Given the description of an element on the screen output the (x, y) to click on. 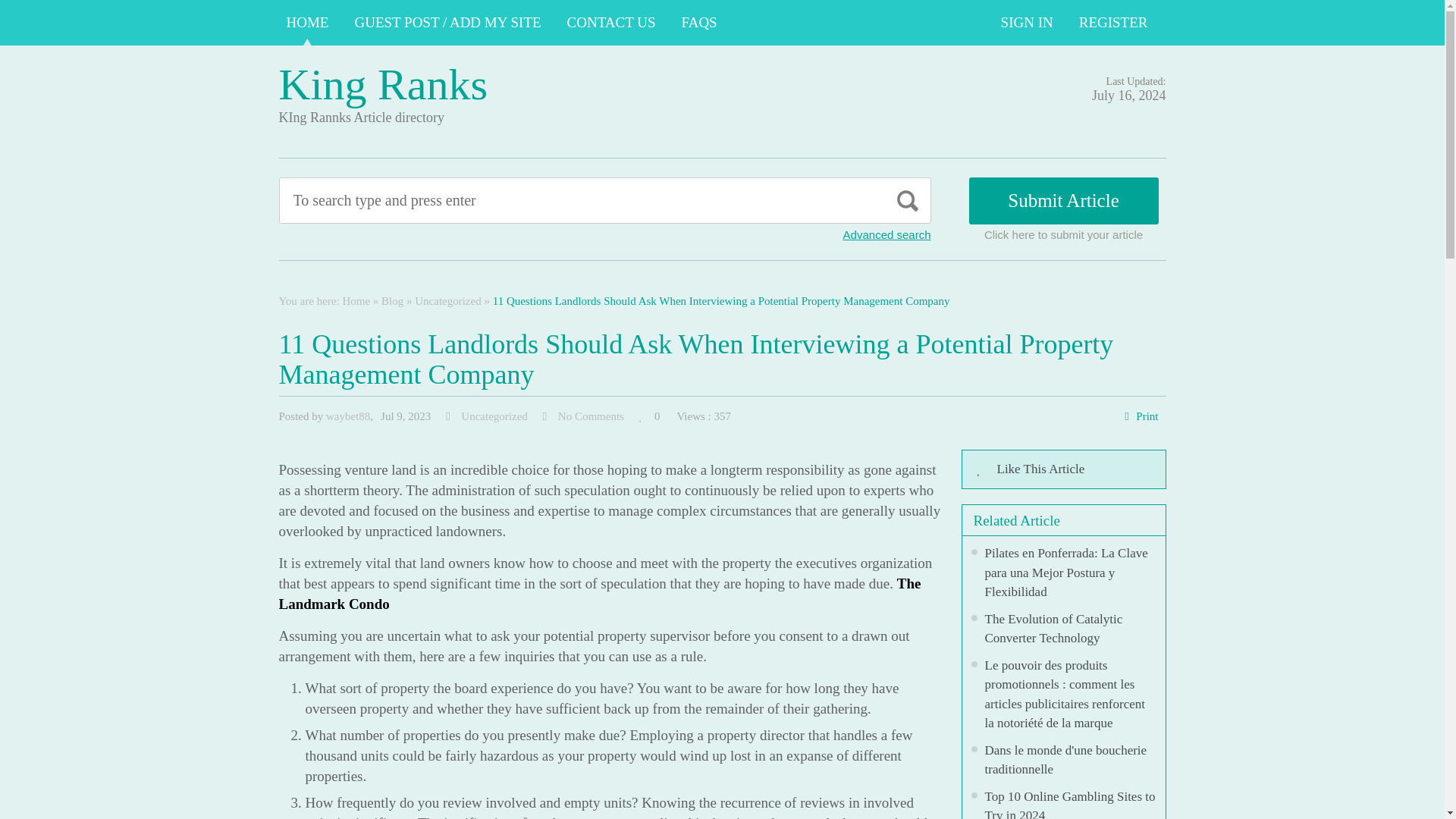
SIGN IN (1026, 22)
King Ranks (383, 83)
No Comments (590, 416)
Submit Article (1063, 200)
FAQS (699, 22)
Top 10 Online Gambling Sites to Try in 2024 (1069, 803)
HOME (307, 22)
Dans le monde d'une boucherie traditionnelle (1065, 759)
Posts by waybet88 (347, 416)
CONTACT US (611, 22)
Home (355, 300)
Uncategorized (494, 416)
REGISTER (1113, 22)
